Given the description of an element on the screen output the (x, y) to click on. 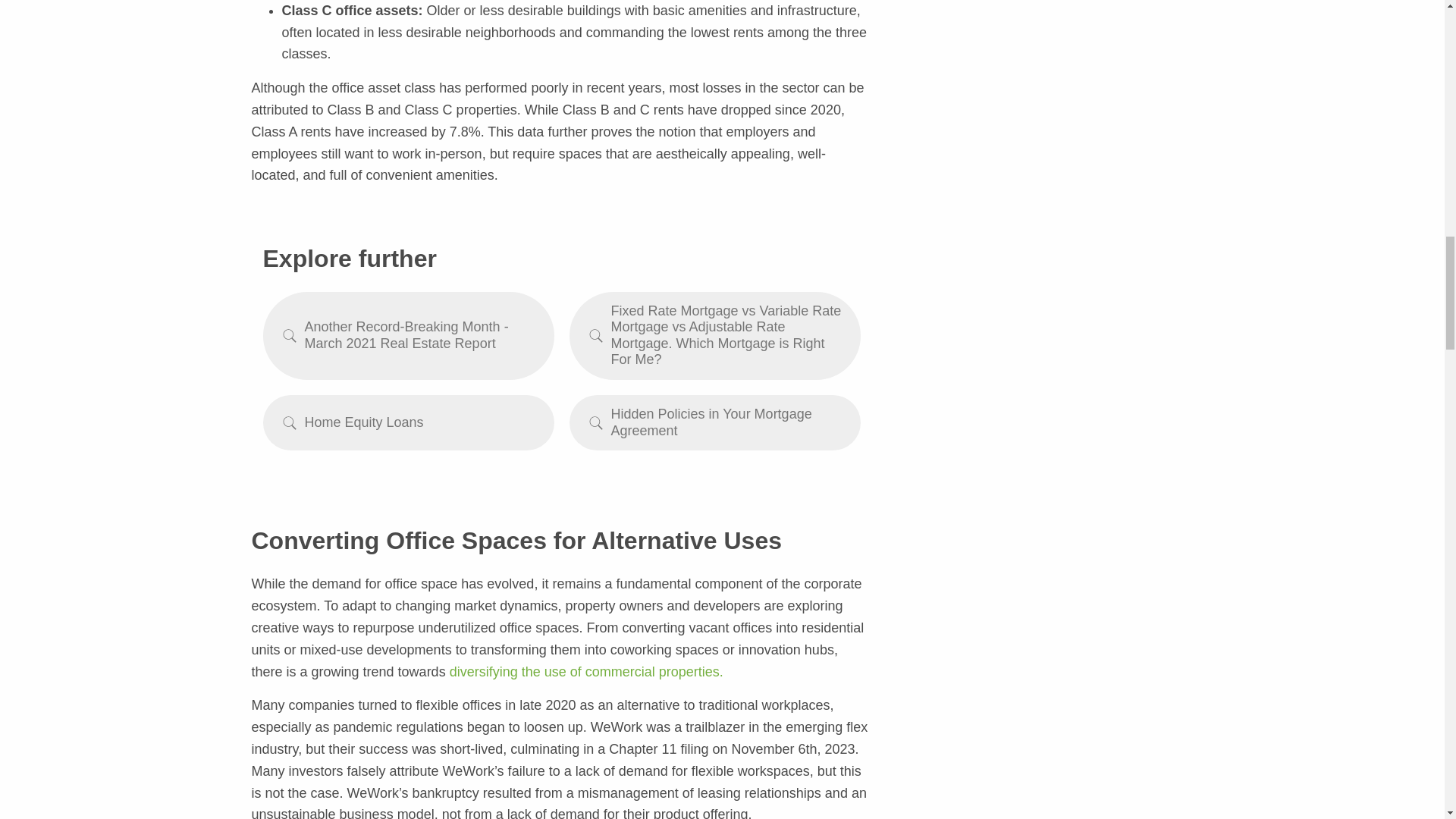
Home Equity Loans (407, 422)
diversifying the use of commercial properties. (586, 671)
Hidden Policies in Your Mortgage Agreement (714, 422)
